Given the description of an element on the screen output the (x, y) to click on. 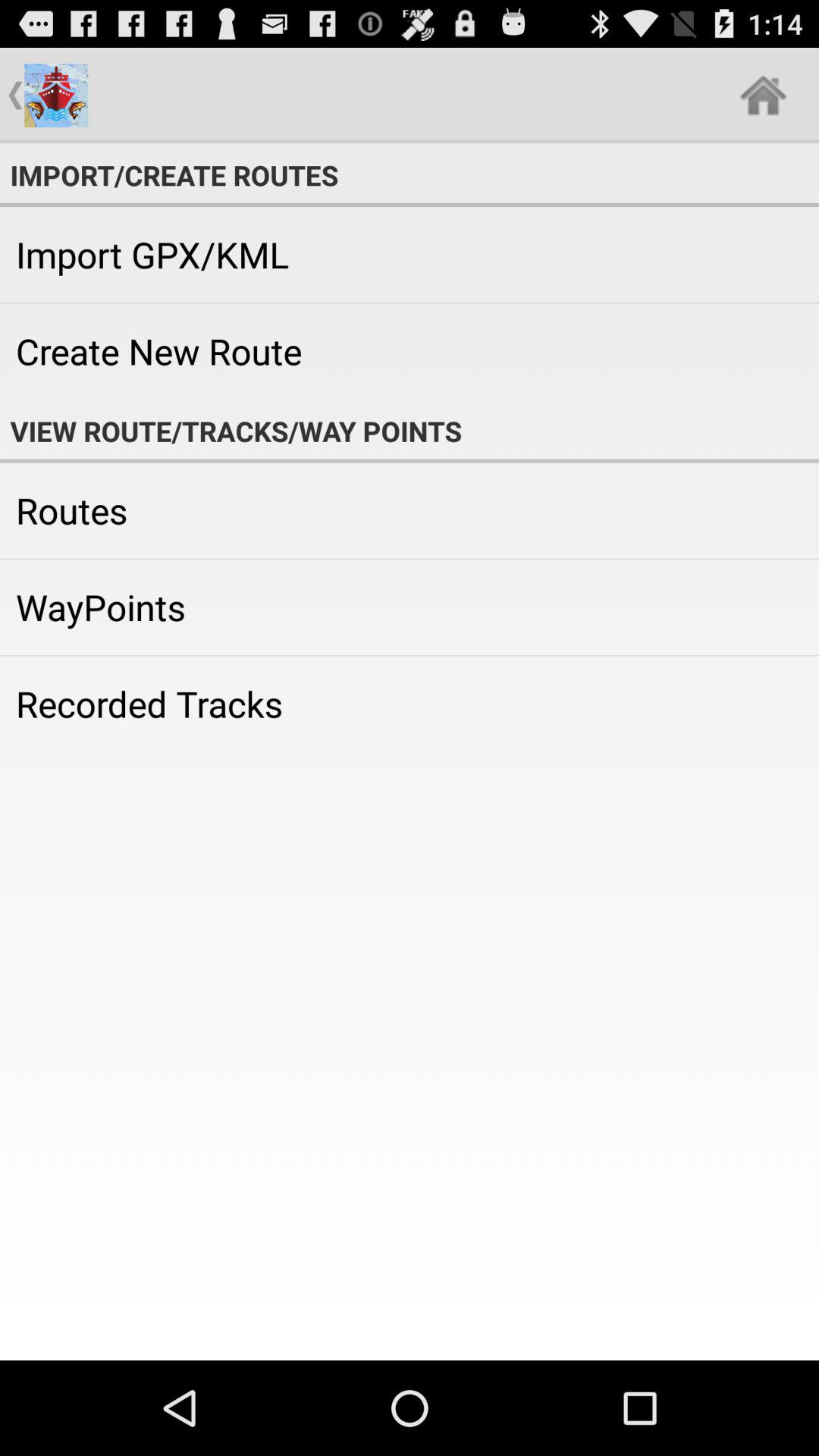
click create new route (409, 351)
